Given the description of an element on the screen output the (x, y) to click on. 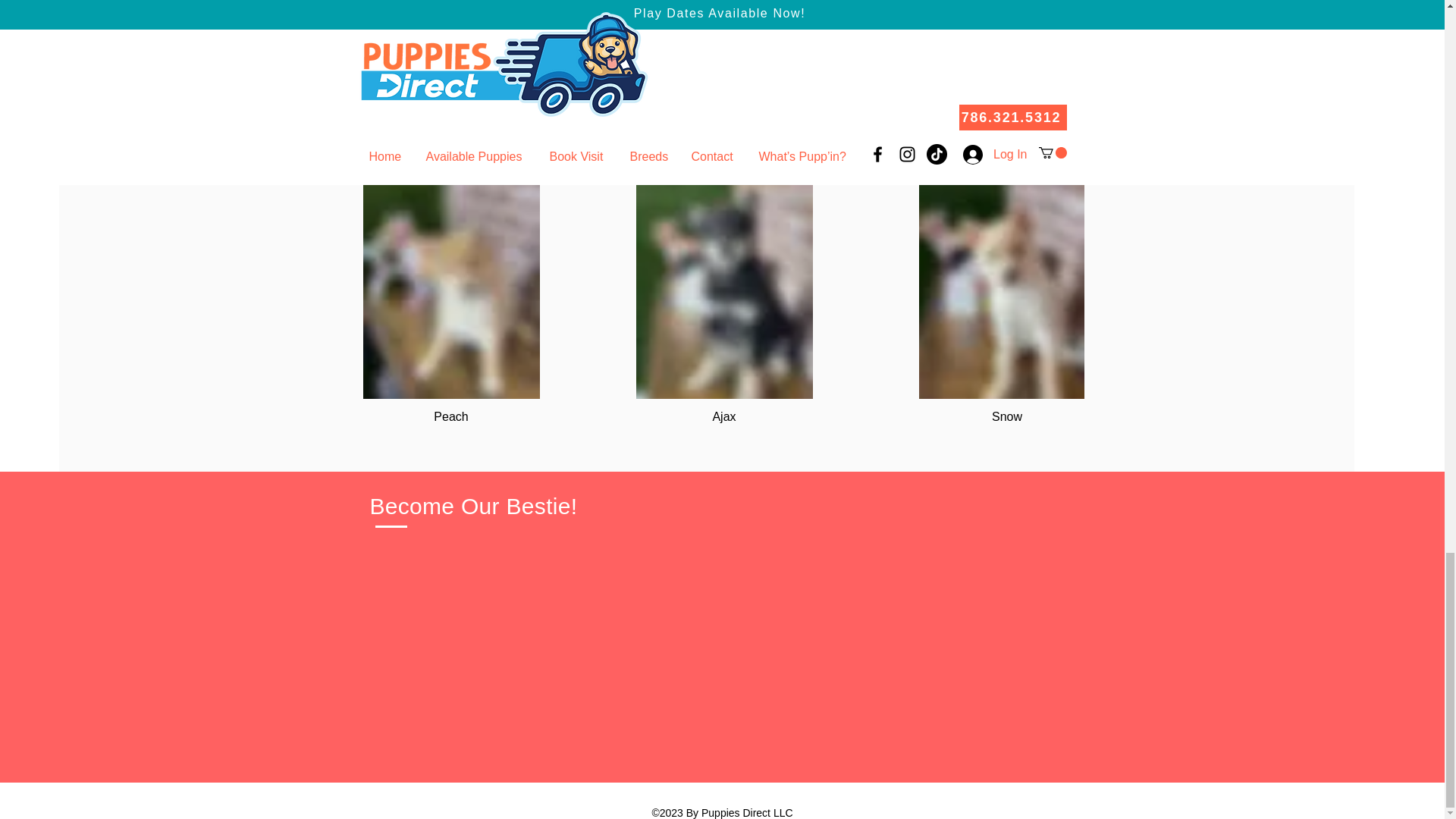
Send (669, 11)
